Given the description of an element on the screen output the (x, y) to click on. 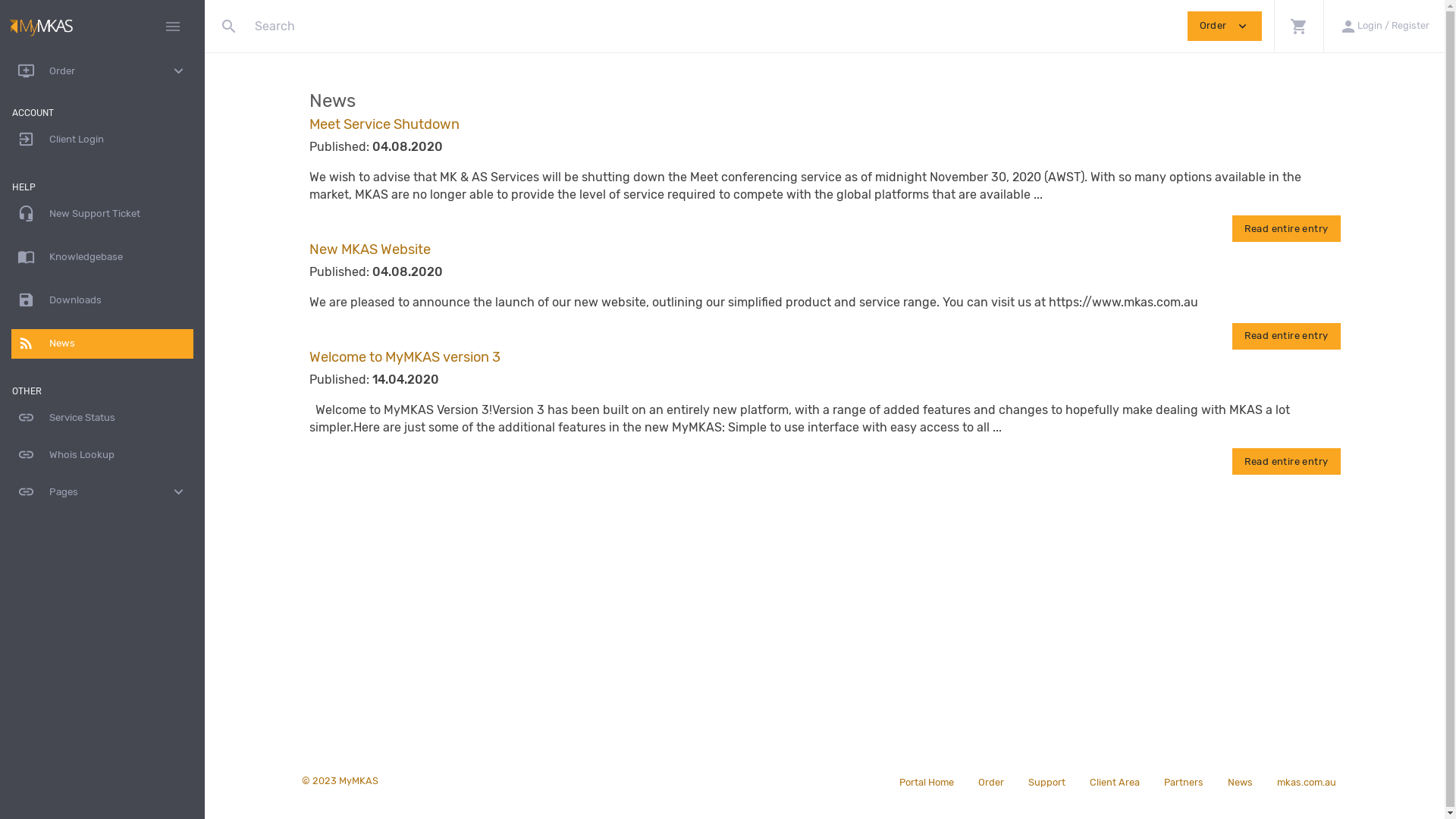
save Downloads Element type: text (102, 300)
Welcome to MyMKAS version 3 Element type: text (404, 356)
link Service Status Element type: text (102, 418)
New MKAS Website Element type: text (369, 249)
Order expand_more Element type: text (1224, 25)
News Element type: text (1239, 781)
link Whois Lookup Element type: text (102, 455)
Read entire entry Element type: text (1286, 336)
Partners Element type: text (1182, 781)
import_contacts Knowledgebase Element type: text (102, 257)
mkas.com.au Element type: text (1306, 781)
headset_mic New Support Ticket Element type: text (102, 214)
Support Element type: text (1046, 781)
Client Area Element type: text (1113, 781)
link Pages
expand_more Element type: text (102, 492)
exit_to_app Client Login Element type: text (102, 139)
shopping_cart Element type: text (1298, 26)
Read entire entry Element type: text (1286, 228)
person
Login / Register Element type: text (1383, 26)
Portal Home Element type: text (926, 781)
menu Element type: text (172, 26)
rss_feed News Element type: text (102, 343)
Read entire entry Element type: text (1286, 461)
Order Element type: text (991, 781)
Meet Service Shutdown Element type: text (384, 124)
